Given the description of an element on the screen output the (x, y) to click on. 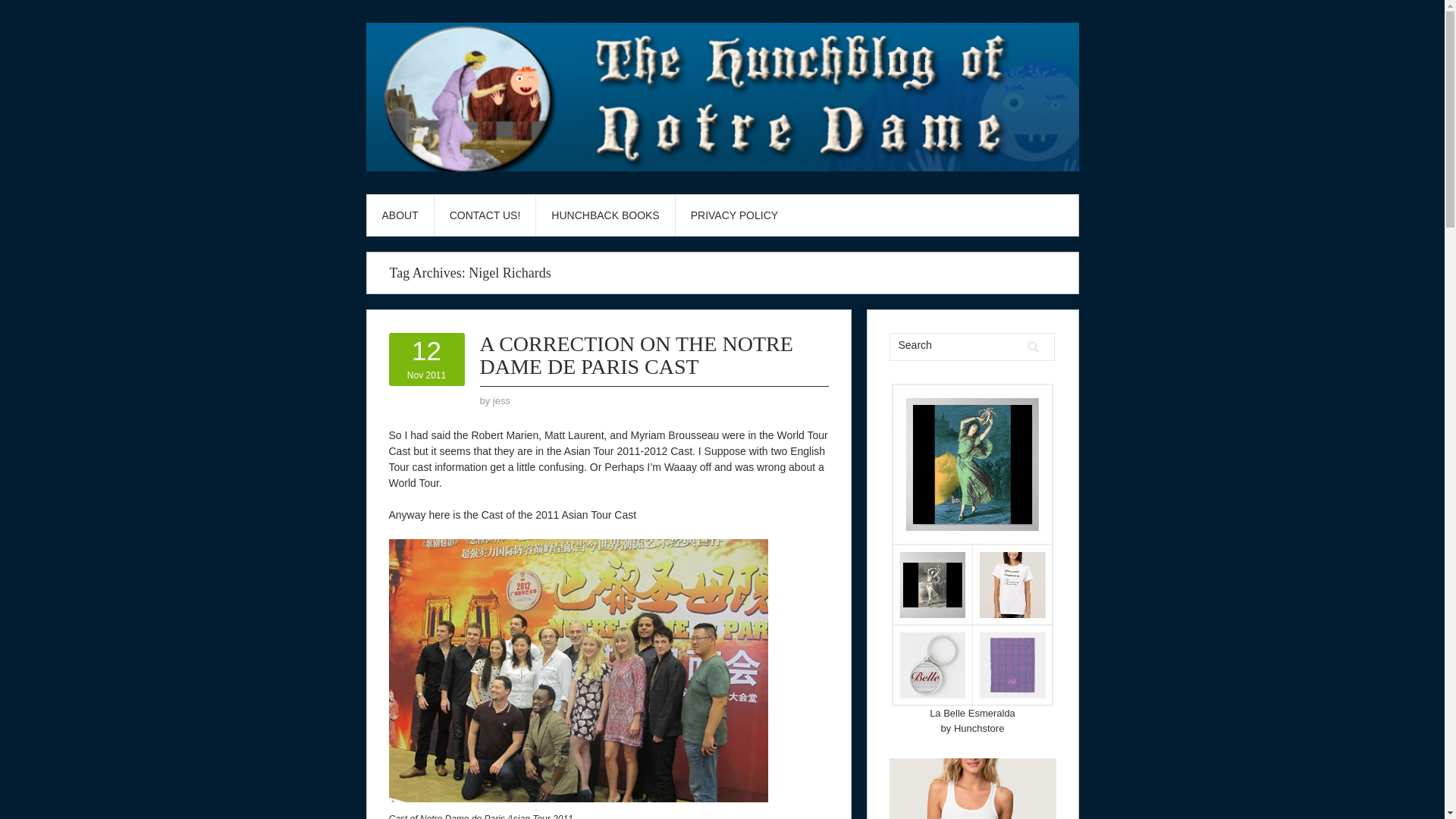
HUNCHBACK BOOKS (604, 214)
Search (1032, 346)
Cast of Notre Dame de Paris Asian Tour 2011 (577, 670)
jess (502, 400)
Permalink to A Correction on the Notre Dame de Paris Cast (635, 355)
PRIVACY POLICY (734, 214)
La Belle Esmeralda (972, 713)
ABOUT (399, 214)
CONTACT US! (426, 359)
Search (484, 214)
Search (954, 344)
by jess (1032, 346)
A CORRECTION ON THE NOTRE DAME DE PARIS CAST (502, 400)
Hunchstore (635, 355)
